Given the description of an element on the screen output the (x, y) to click on. 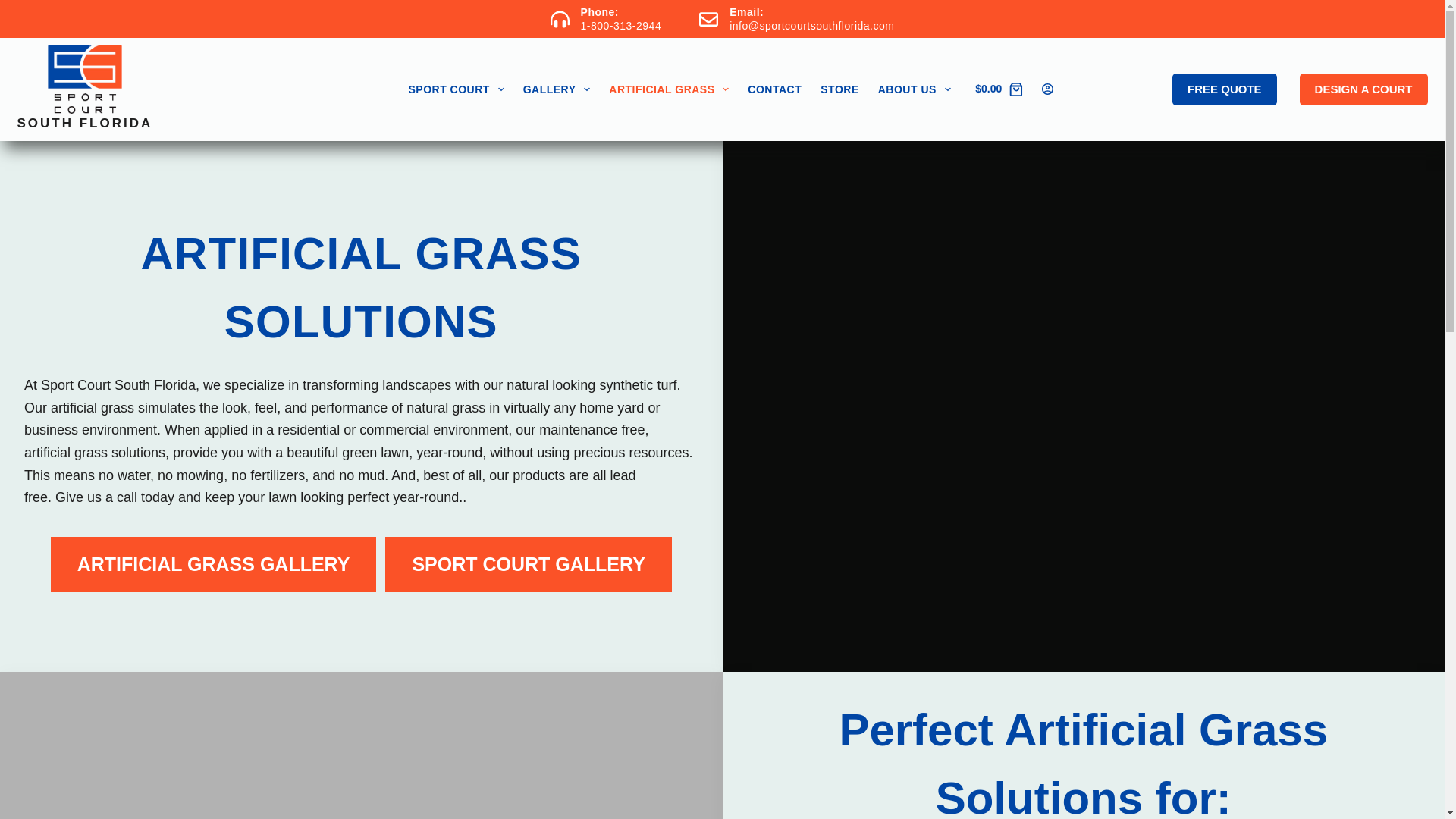
Skip to content (15, 7)
